Given the description of an element on the screen output the (x, y) to click on. 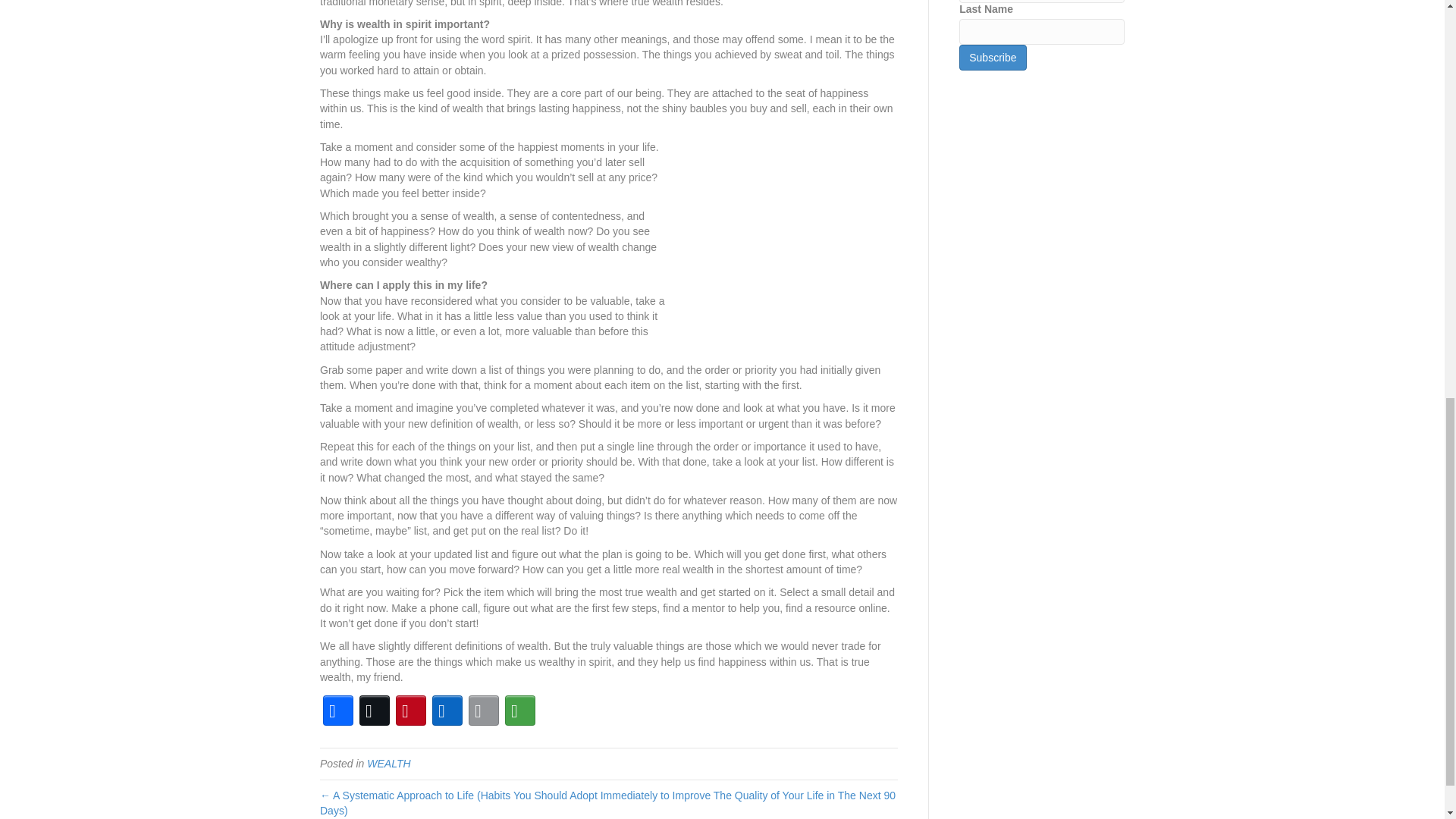
Email This (483, 710)
More Options (520, 710)
WEALTH (388, 763)
Advertisement (783, 234)
Facebook (338, 710)
LinkedIn (447, 710)
Pinterest (411, 710)
Subscribe (992, 57)
Subscribe (992, 57)
